Given the description of an element on the screen output the (x, y) to click on. 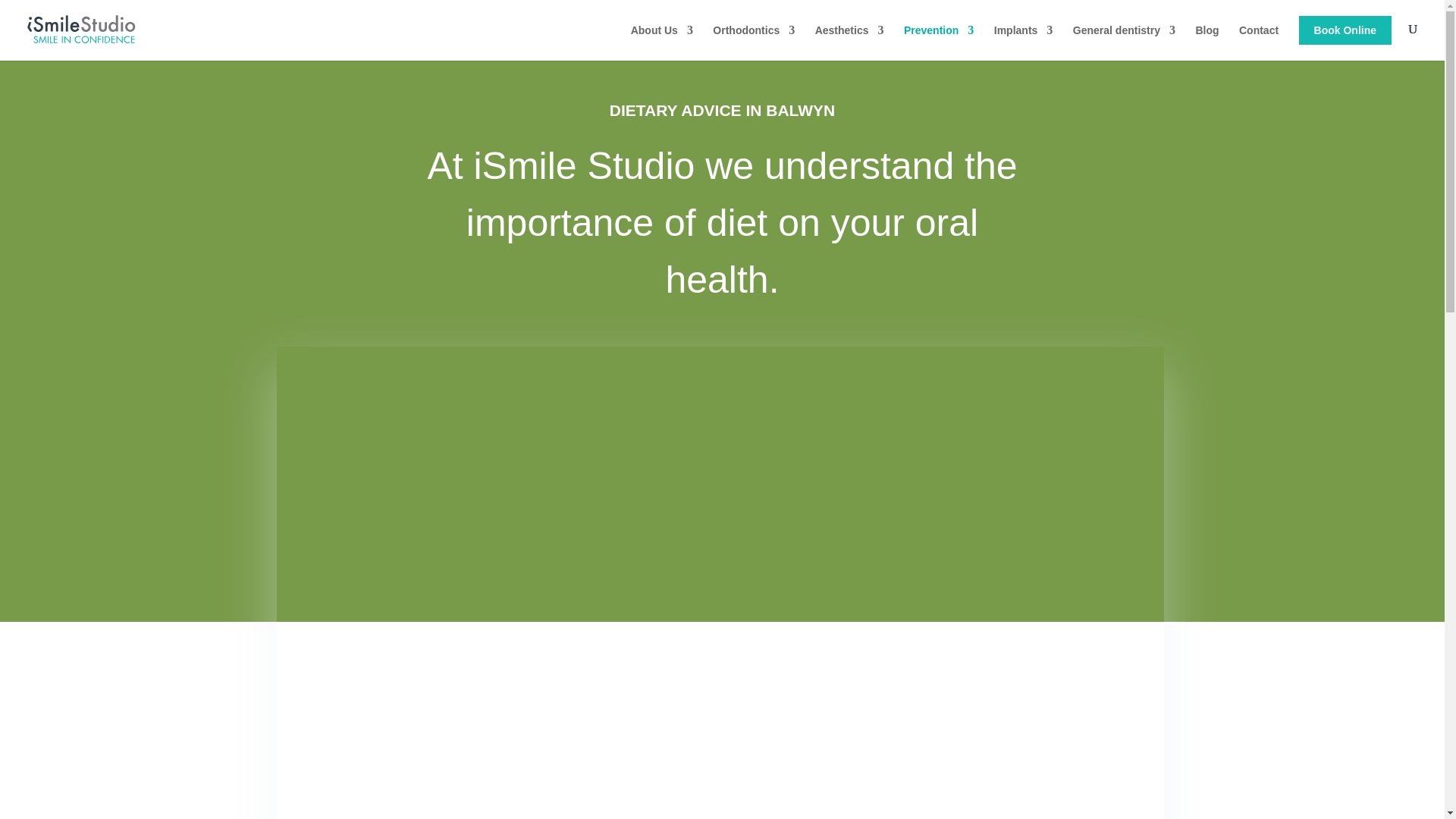
Prevention (939, 42)
General dentistry (1123, 42)
About Us (661, 42)
Orthodontics (753, 42)
Implants (1023, 42)
Aesthetics (849, 42)
Book Online (1344, 30)
Contact (1258, 42)
